Given the description of an element on the screen output the (x, y) to click on. 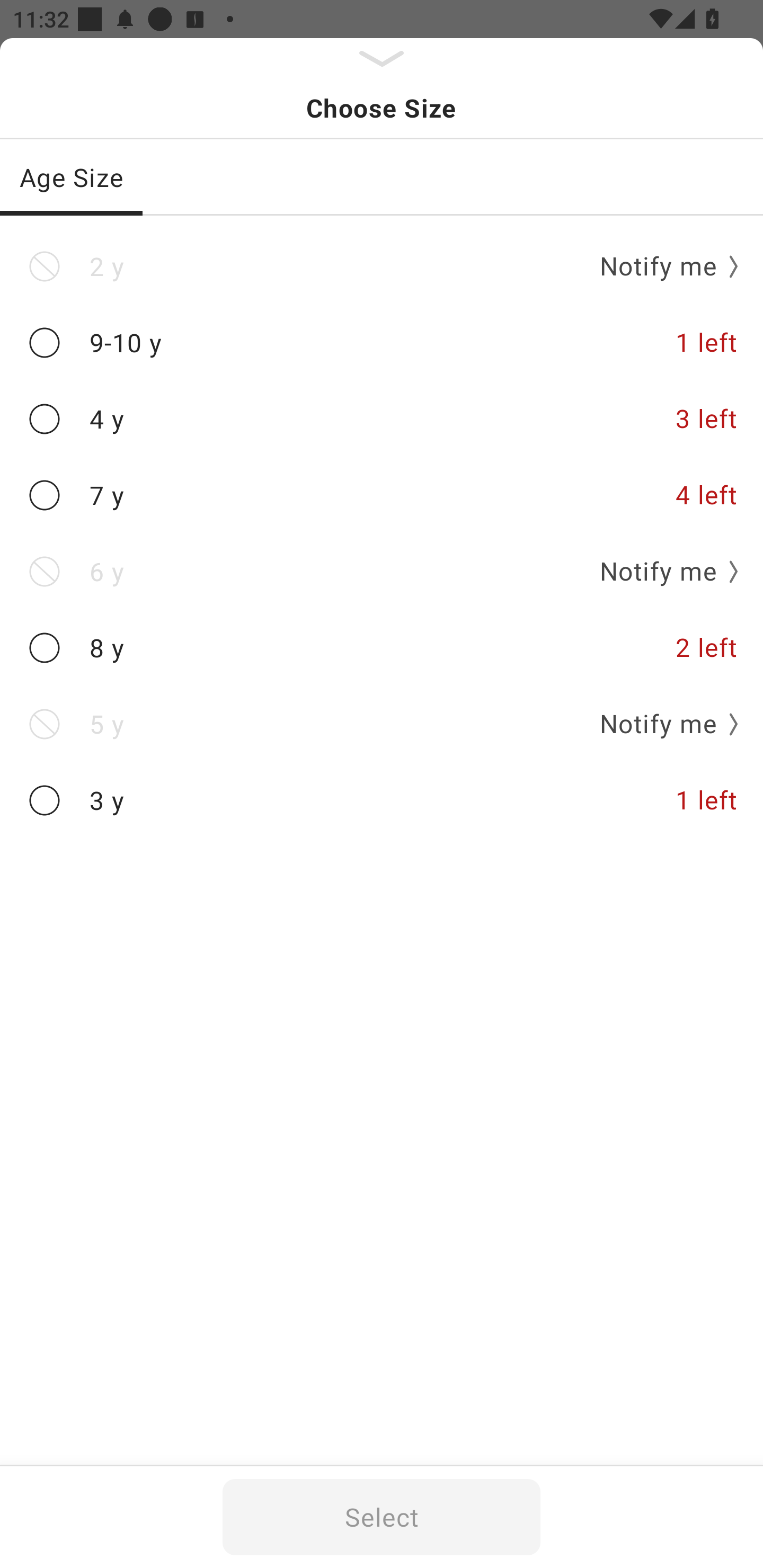
2 y Notify me (381, 266)
Notify me (661, 266)
9-10 y 1 left (381, 342)
4 y 3 left (381, 419)
7 y 4 left (381, 495)
6 y Notify me (381, 571)
Notify me (661, 571)
8 y 2 left (381, 647)
5 y Notify me (381, 724)
Notify me (661, 724)
3 y 1 left (381, 800)
Select (381, 1516)
